Given the description of an element on the screen output the (x, y) to click on. 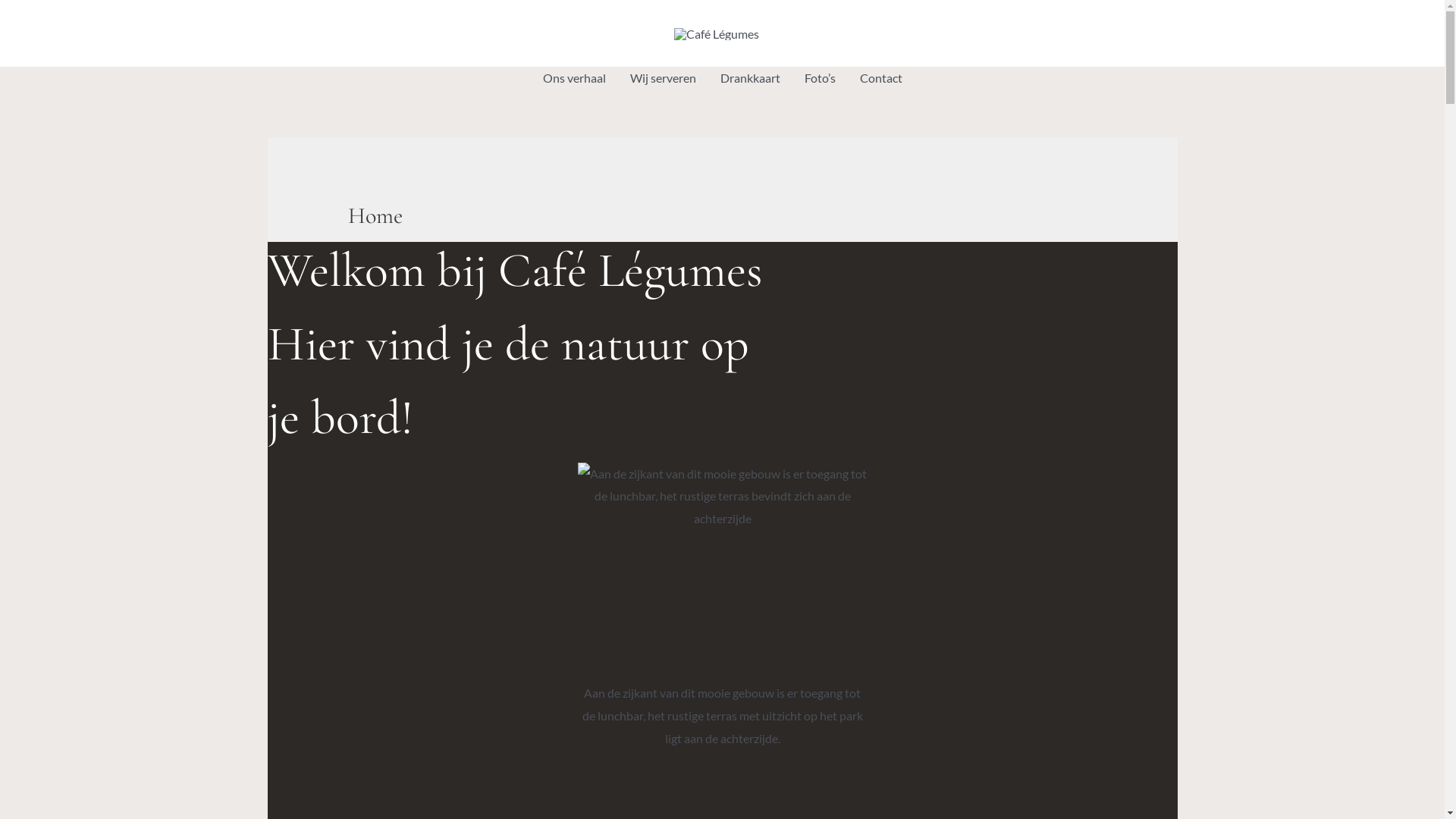
Drankkaart Element type: text (750, 78)
Ons verhaal Element type: text (574, 78)
Wij serveren Element type: text (662, 78)
Contact Element type: text (880, 78)
